Given the description of an element on the screen output the (x, y) to click on. 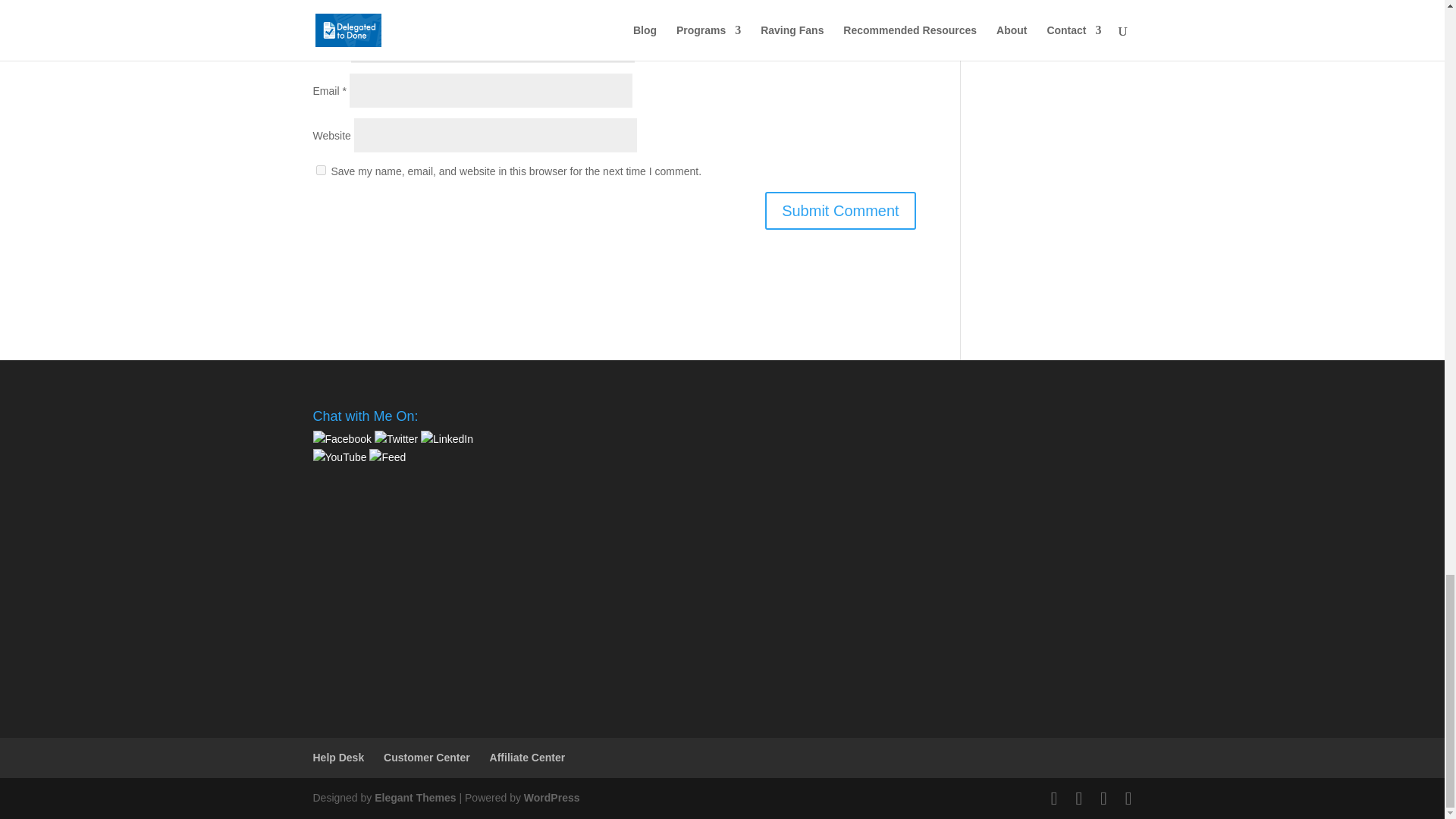
Submit Comment (840, 210)
yes (319, 170)
Help Desk (338, 757)
Submit Comment (840, 210)
Premium WordPress Themes (414, 797)
